Given the description of an element on the screen output the (x, y) to click on. 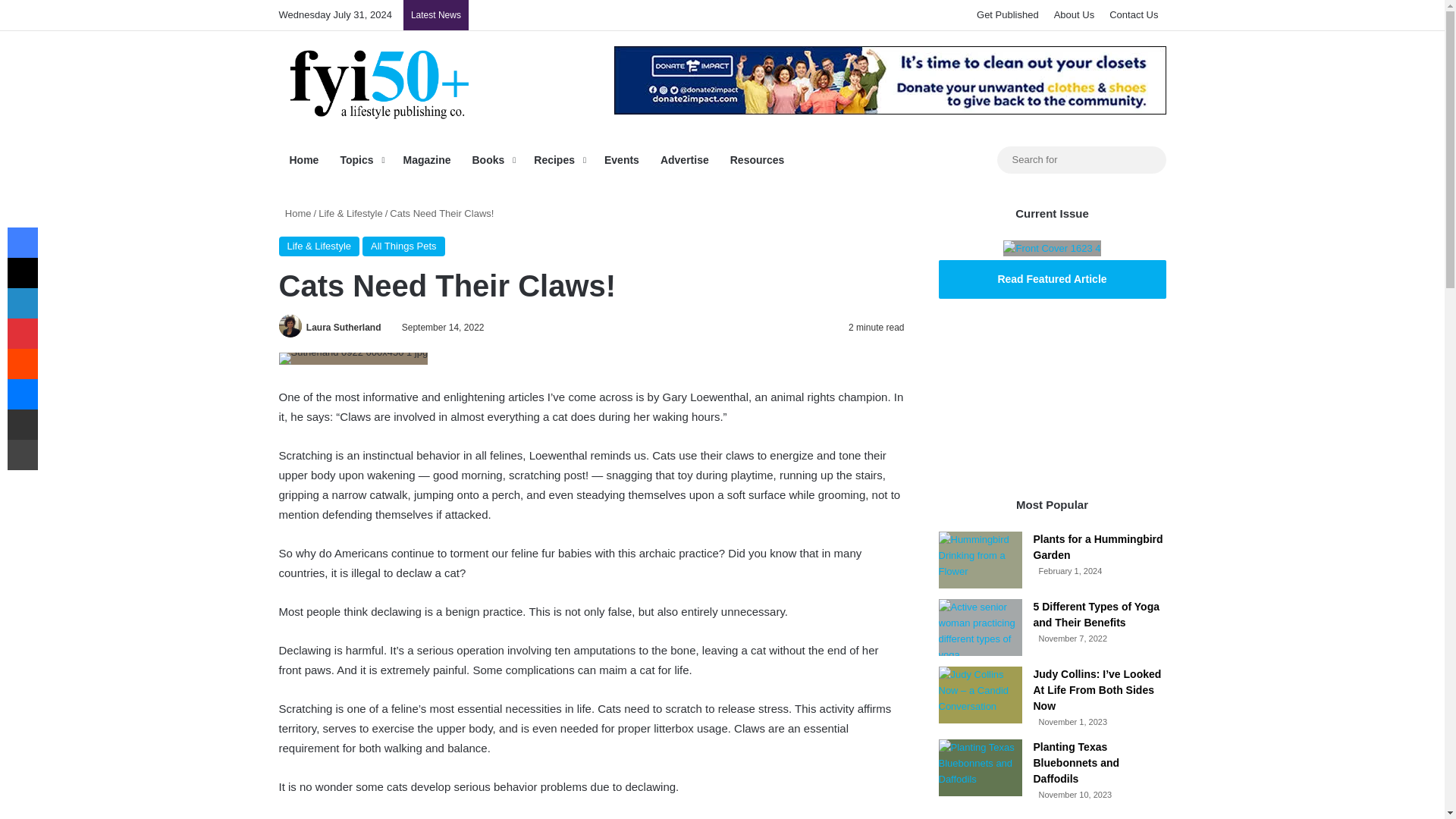
Books (491, 159)
Recipes (558, 159)
Cats Need Their Claws! 1 (353, 358)
Get Published (1007, 15)
Plants for a Hummingbird Garden 17 (980, 559)
Laura Sutherland (343, 327)
Topics (360, 159)
Resources (756, 159)
Magazine (426, 159)
Advertise (684, 159)
Judy Collins: I've Looked At Life From Both Sides Now 19 (980, 694)
Events (621, 159)
About Us (1074, 15)
Home (304, 159)
Search for (1080, 159)
